Given the description of an element on the screen output the (x, y) to click on. 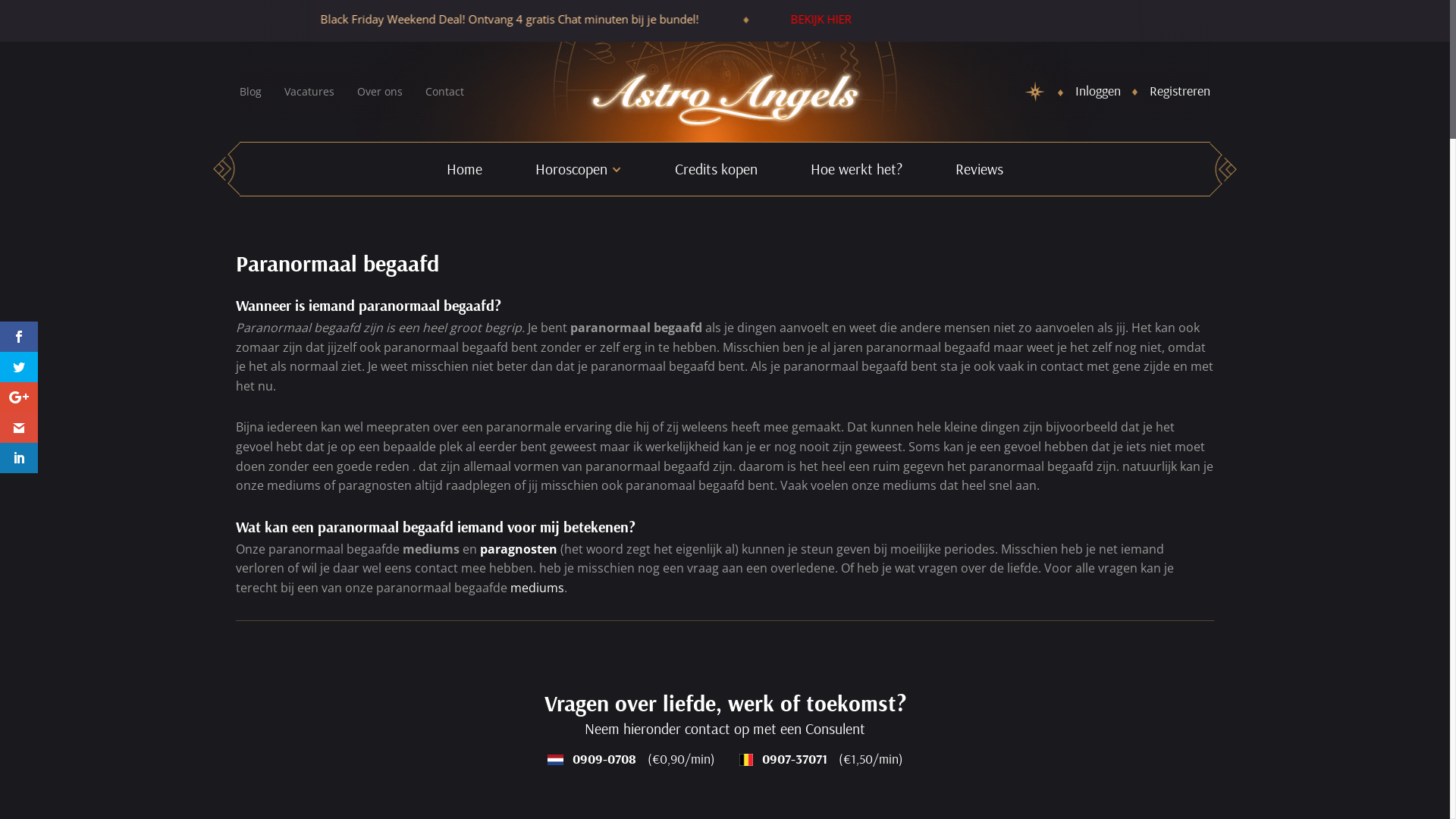
Reviews Element type: text (979, 168)
Home Element type: text (464, 168)
Horoscopen Element type: text (578, 168)
Registreren Element type: text (1179, 90)
Vacatures Element type: text (309, 91)
Blog Element type: text (250, 91)
BEKIJK HIER  Element type: text (717, 18)
Inloggen Element type: text (1097, 90)
Contact Element type: text (444, 91)
Over ons Element type: text (379, 91)
Hoe werkt het? Element type: text (856, 168)
paragnosten Element type: text (518, 548)
mediums Element type: text (537, 587)
Credits kopen Element type: text (715, 168)
